Given the description of an element on the screen output the (x, y) to click on. 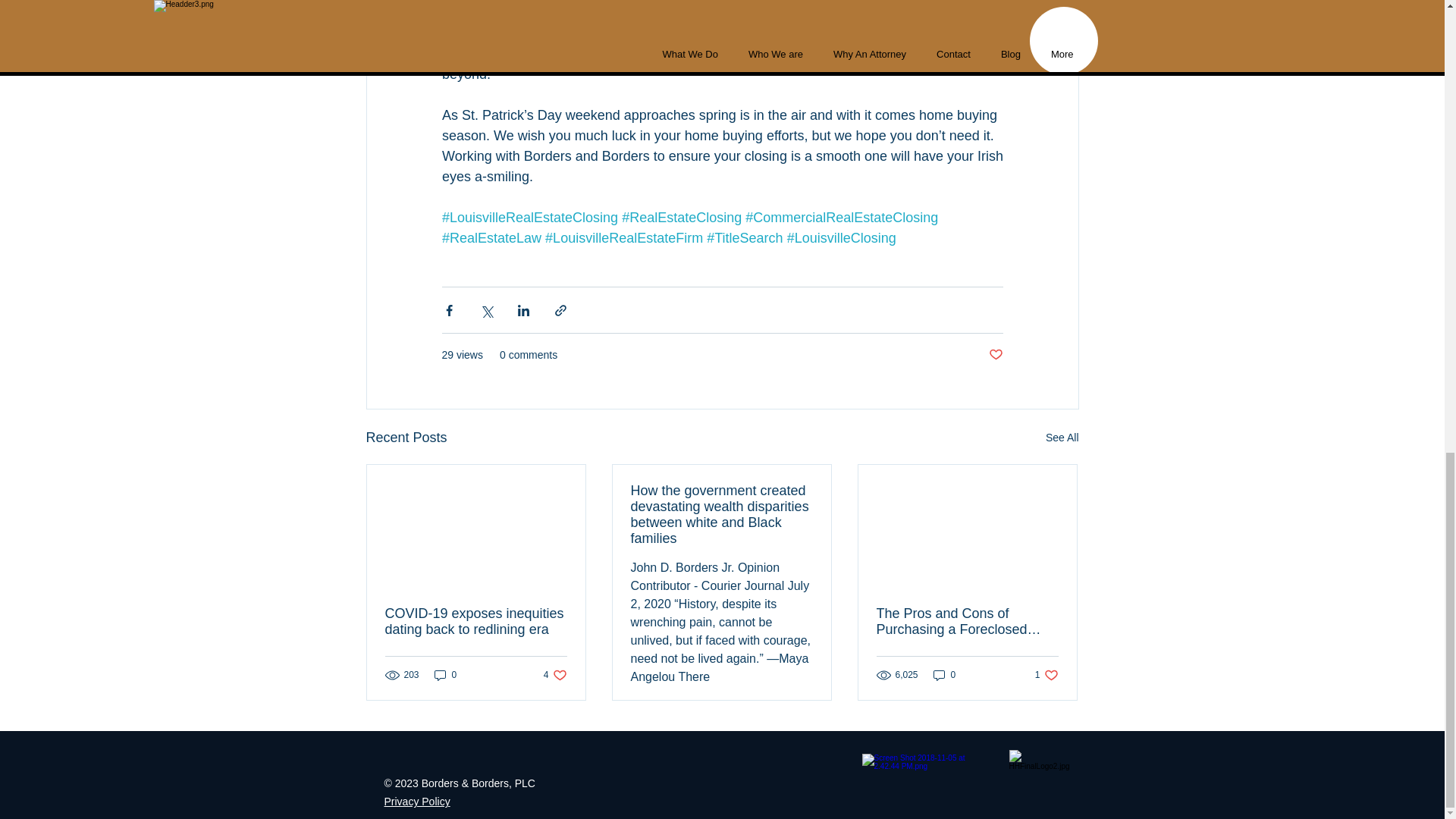
See All (555, 675)
0 (1061, 437)
Post not marked as liked (445, 675)
COVID-19 exposes inequities dating back to redlining era (995, 355)
